Given the description of an element on the screen output the (x, y) to click on. 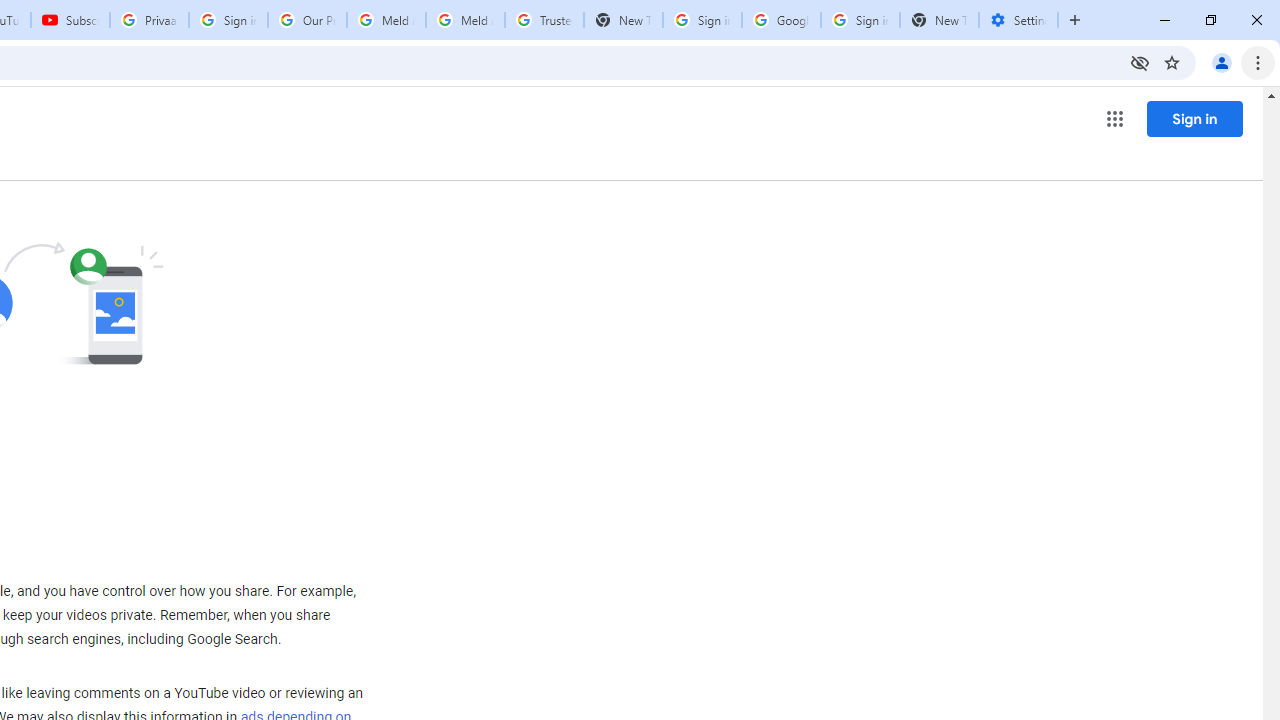
Sign in - Google Accounts (859, 20)
Google Cybersecurity Innovations - Google Safety Center (781, 20)
Subscriptions - YouTube (70, 20)
